Given the description of an element on the screen output the (x, y) to click on. 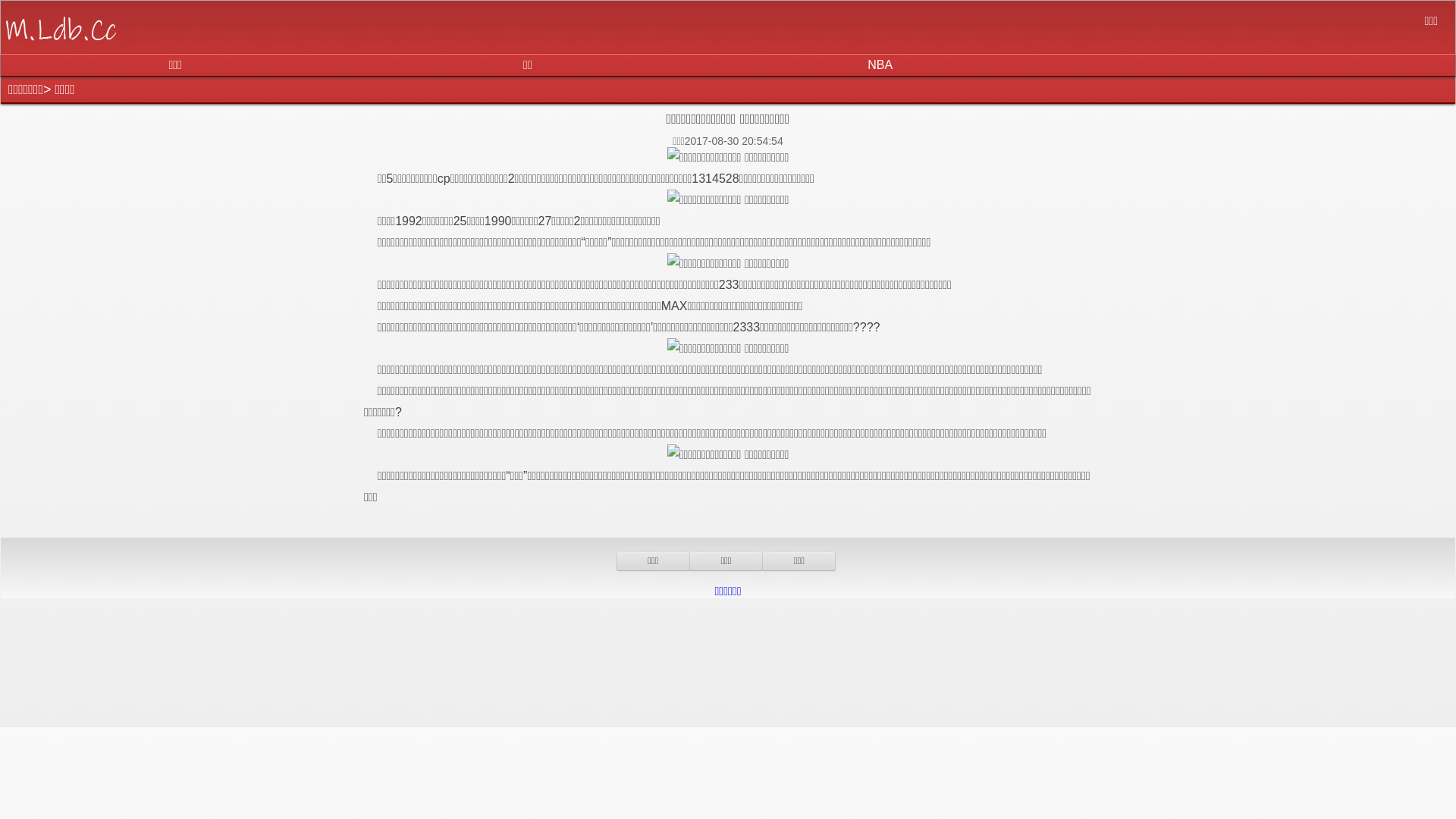
NBA Element type: text (880, 64)
